Given the description of an element on the screen output the (x, y) to click on. 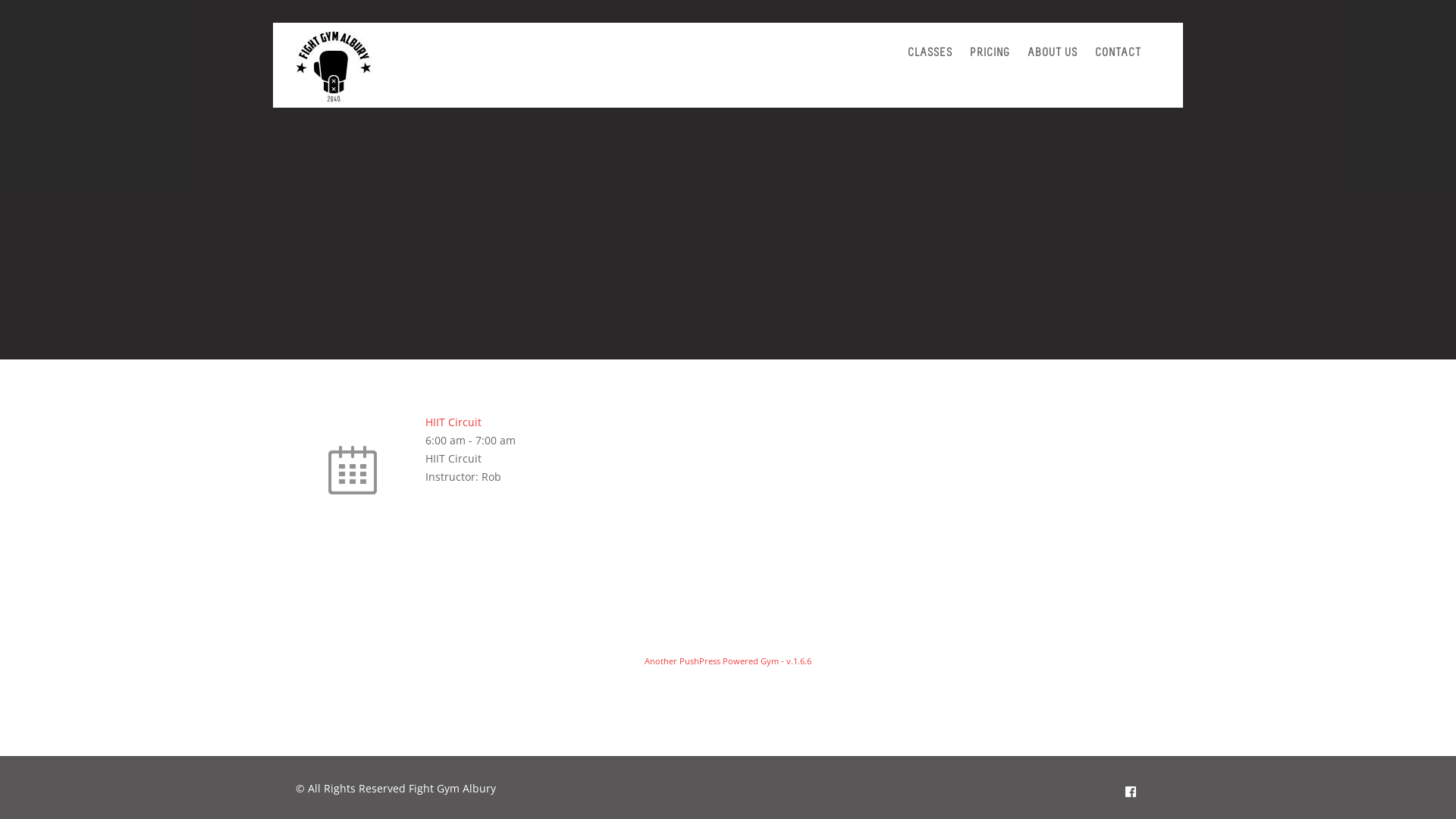
ABOUT US Element type: text (1052, 53)
CONTACT Element type: text (1117, 53)
CLASSES Element type: text (930, 53)
HIIT Circuit Element type: text (453, 421)
Another PushPress Powered Gym - v.1.6.6 Element type: text (727, 660)
PRICING Element type: text (989, 53)
